Given the description of an element on the screen output the (x, y) to click on. 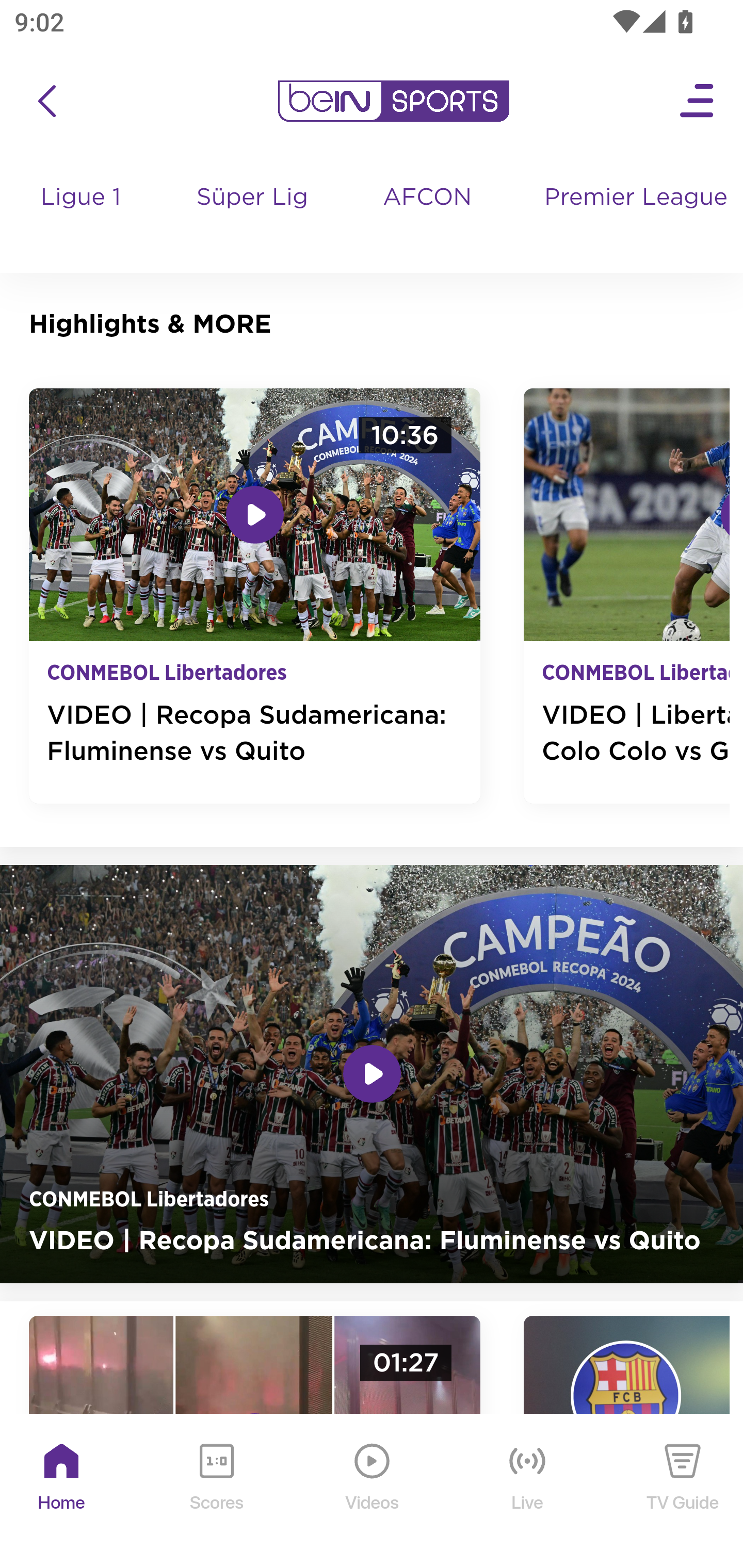
en-us?platform=mobile_android bein logo (392, 101)
icon back (46, 101)
Open Menu Icon (697, 101)
Ligue 1 (81, 216)
Süper Lig (253, 216)
AFCON (426, 198)
Premier League (636, 198)
Home Home Icon Home (61, 1491)
Scores Scores Icon Scores (216, 1491)
Videos Videos Icon Videos (372, 1491)
TV Guide TV Guide Icon TV Guide (682, 1491)
